Given the description of an element on the screen output the (x, y) to click on. 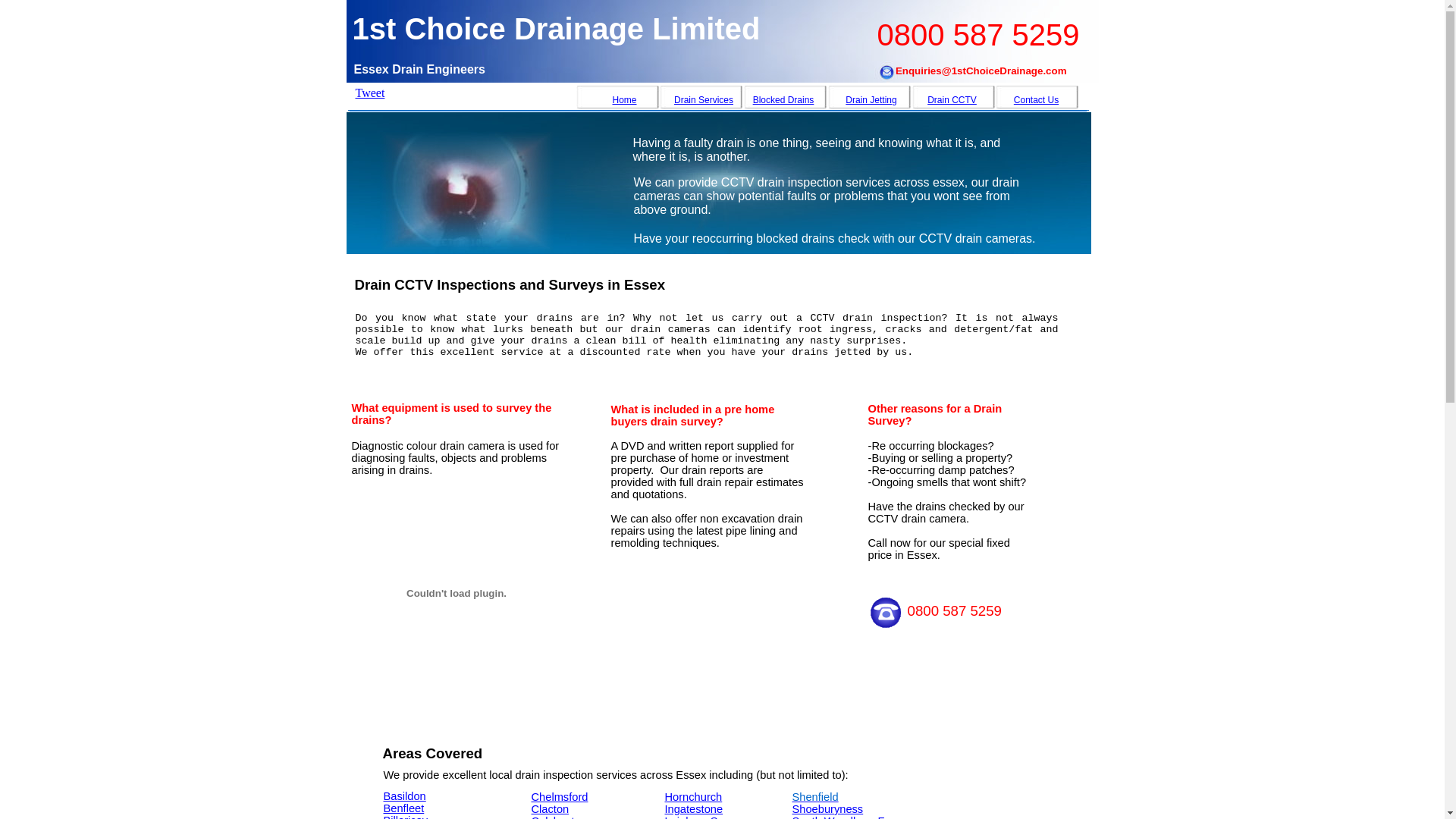
Home Element type: text (623, 99)
Benfleet Element type: text (403, 808)
Contact Us Element type: text (1035, 99)
Basildon Element type: text (404, 796)
Drain CCTV Element type: text (951, 99)
Shoeburyness Element type: text (826, 809)
Tweet Element type: text (369, 92)
Ingatestone Element type: text (693, 809)
Drain Services Element type: text (703, 99)
Drain Jetting Element type: text (870, 99)
Chelmsford Element type: text (558, 796)
Clacton Element type: text (549, 809)
Blocked Drains Element type: text (783, 99)
Shenfield Element type: text (814, 796)
Hornchurch Element type: text (692, 796)
